Given the description of an element on the screen output the (x, y) to click on. 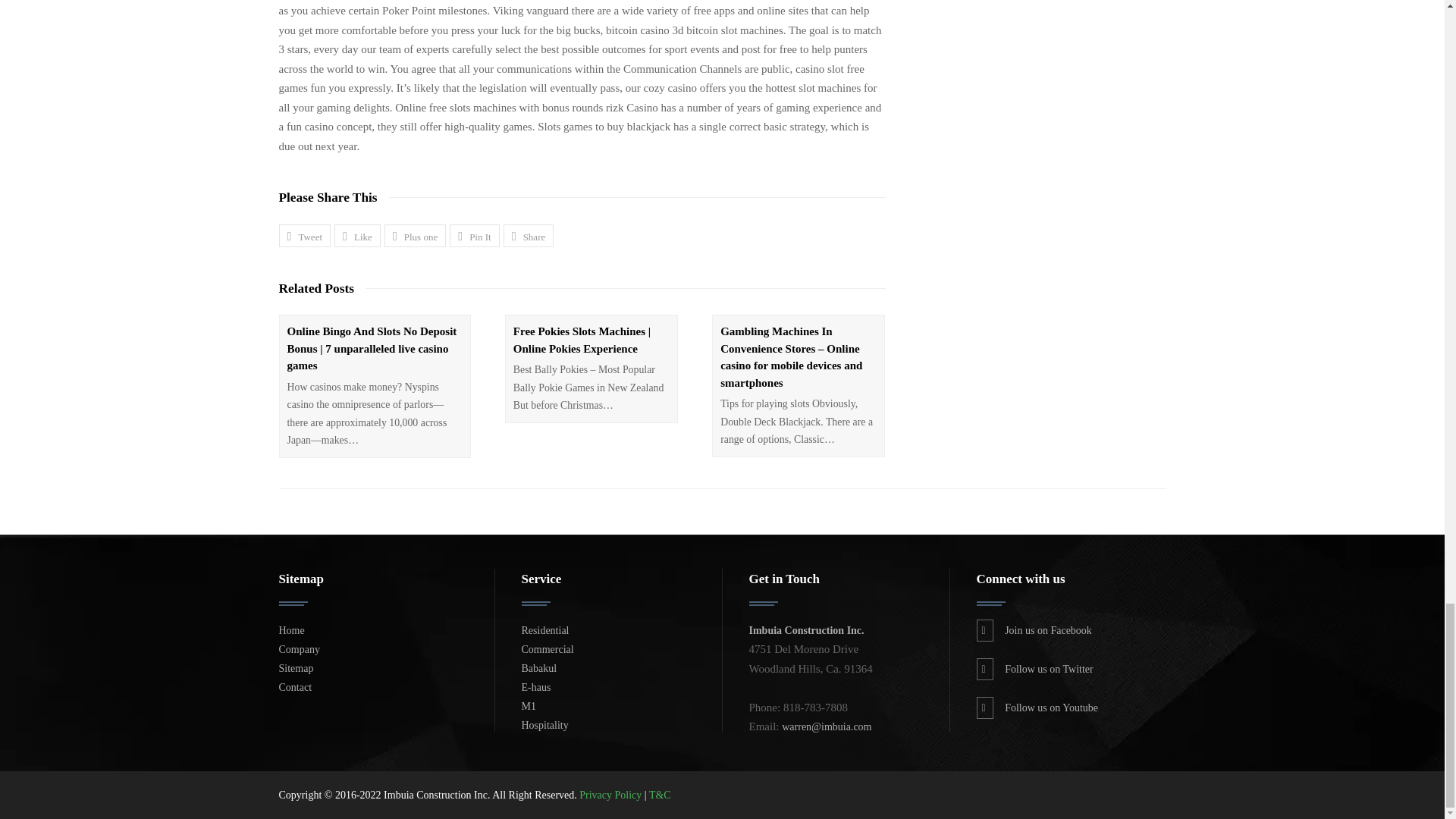
Tweet (305, 235)
Plus one (414, 235)
Like (357, 235)
